Given the description of an element on the screen output the (x, y) to click on. 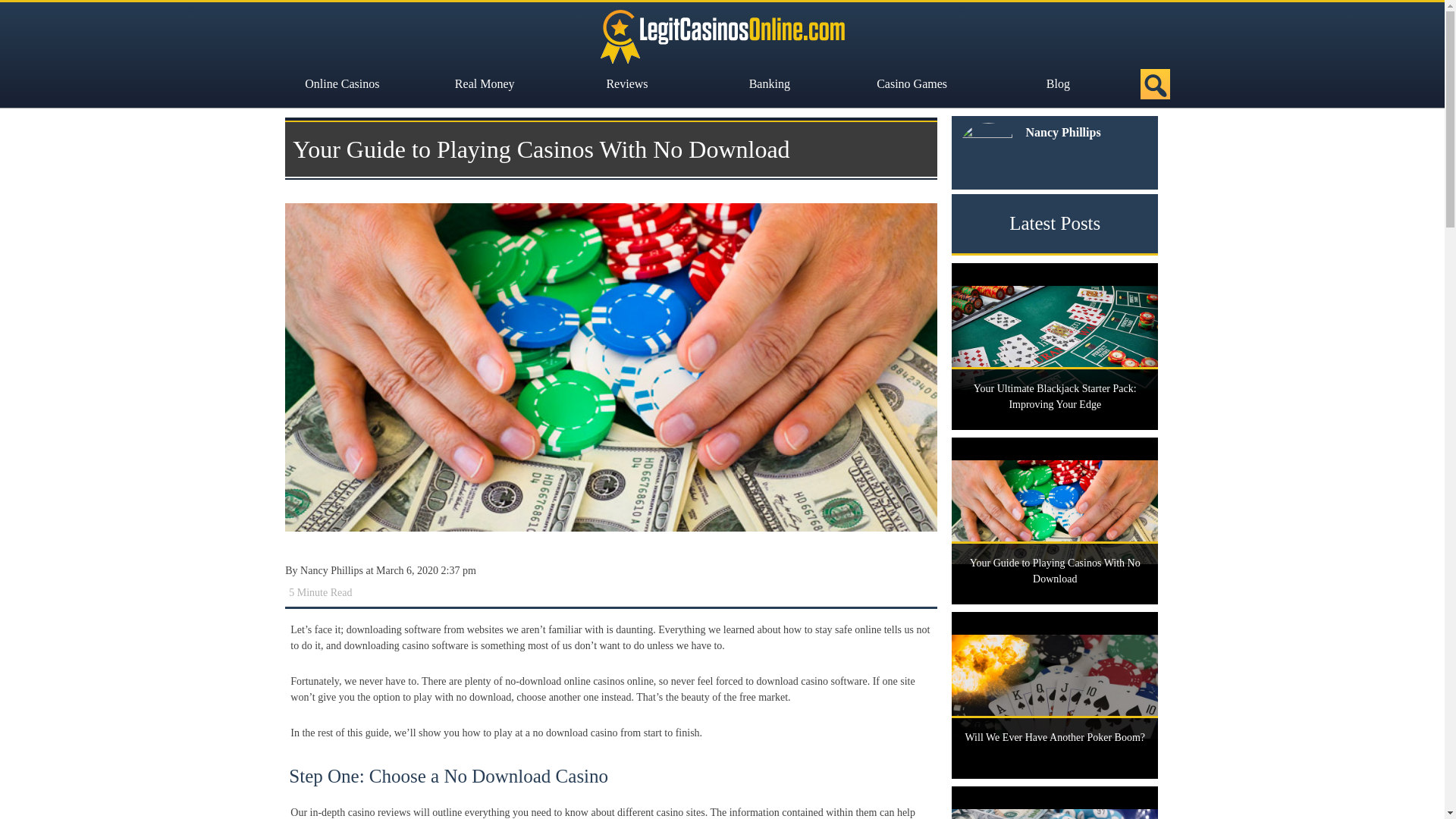
Banking (772, 83)
Online Casinos (345, 83)
Reviews (630, 83)
Casino Games (915, 83)
Real Money (487, 83)
